Given the description of an element on the screen output the (x, y) to click on. 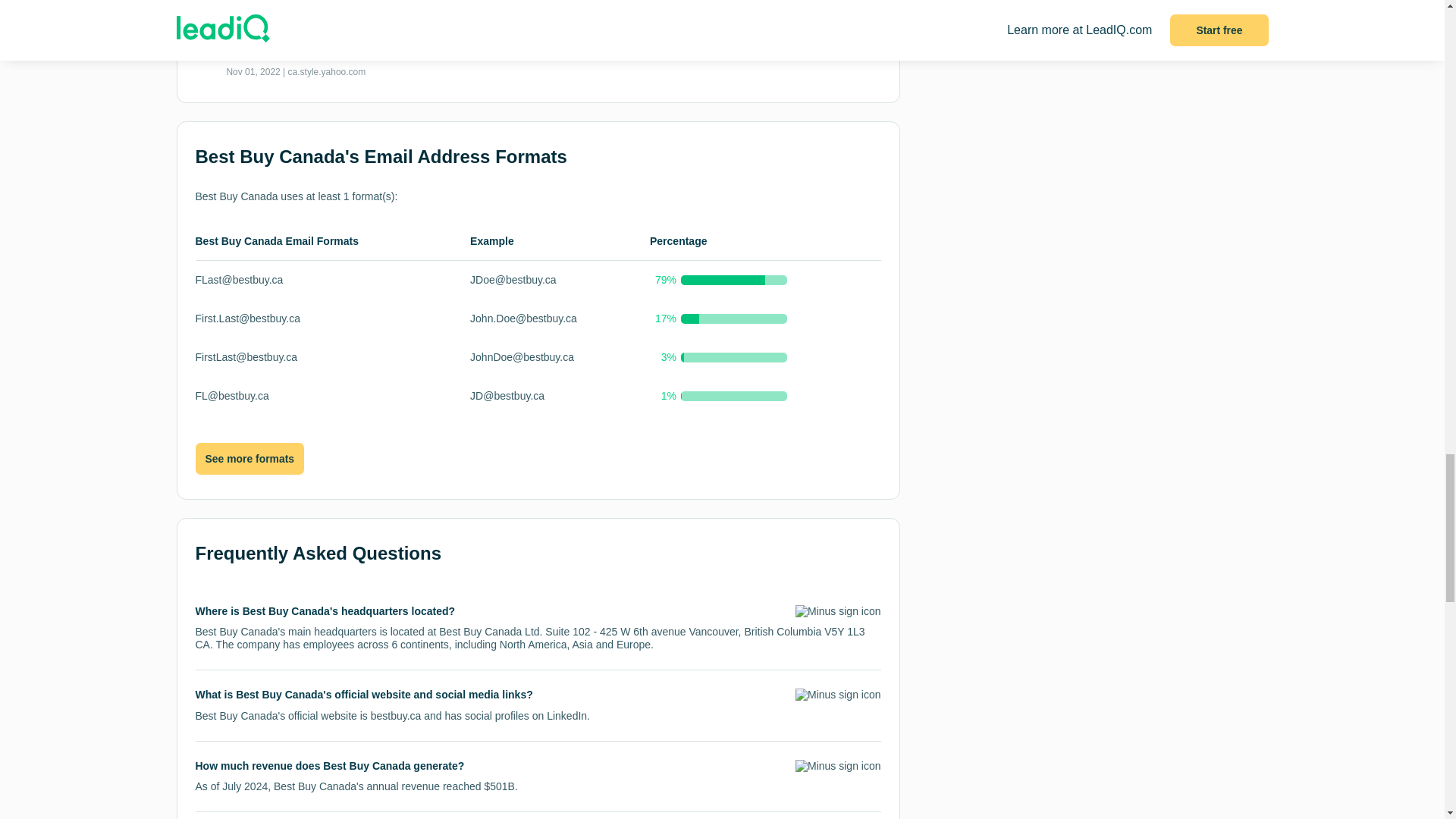
LinkedIn (566, 715)
See more formats (249, 459)
See more formats (249, 459)
bestbuy.ca (396, 715)
